Given the description of an element on the screen output the (x, y) to click on. 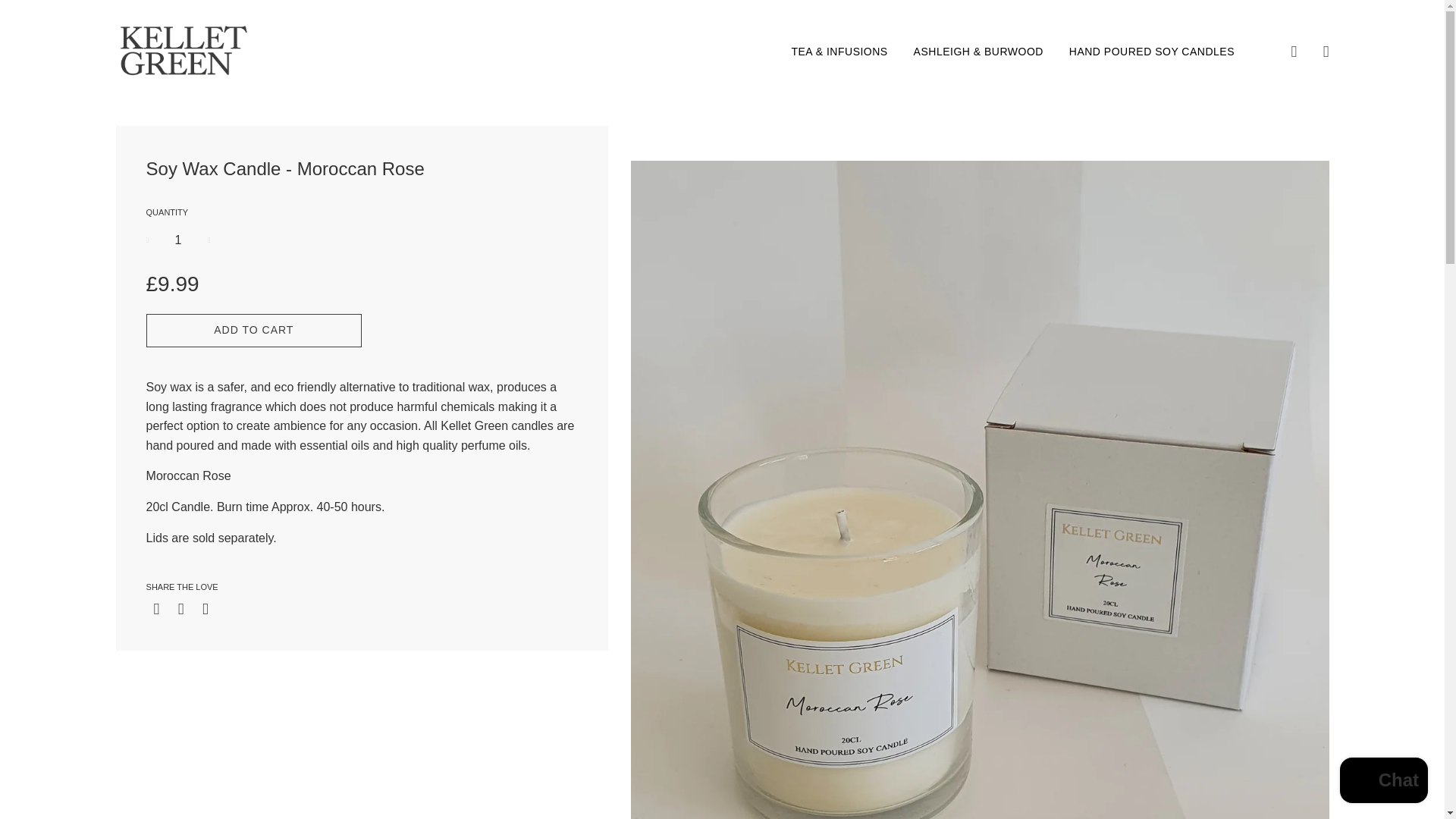
ADD TO CART (254, 330)
HAND POURED SOY CANDLES (1146, 51)
1 (179, 239)
Shopify online store chat (1383, 781)
